Given the description of an element on the screen output the (x, y) to click on. 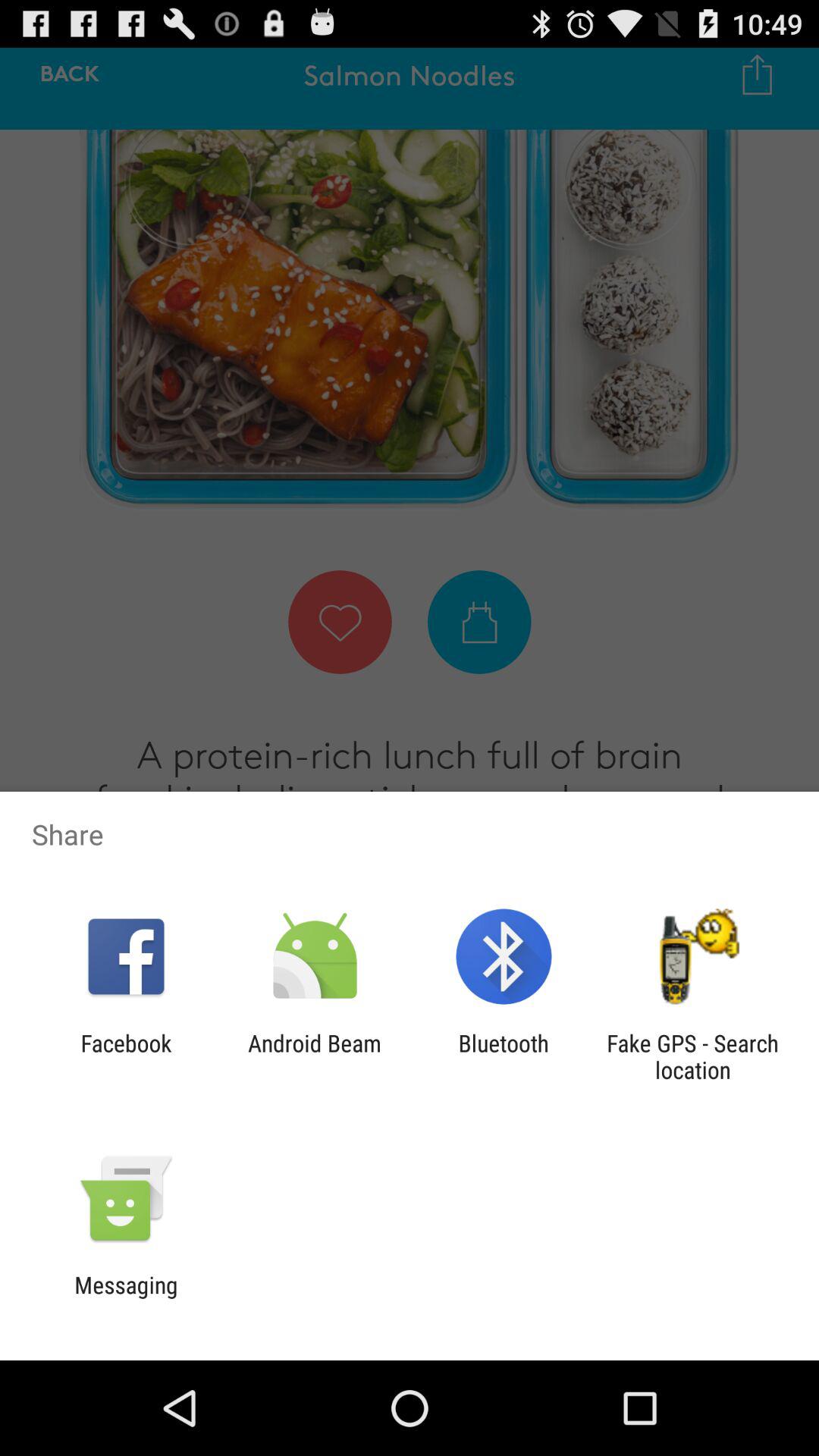
choose app next to the facebook item (314, 1056)
